Given the description of an element on the screen output the (x, y) to click on. 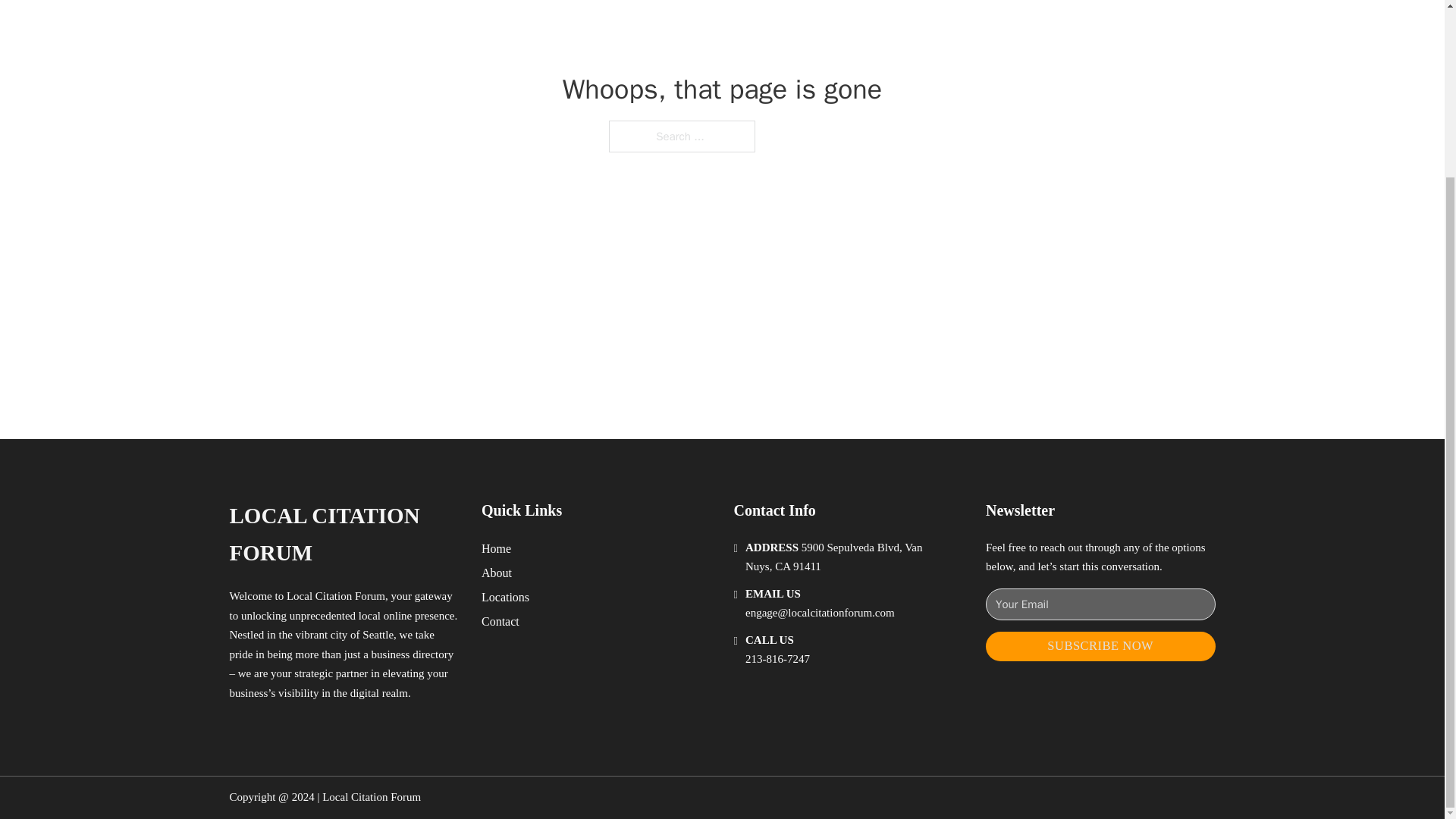
Home (496, 548)
LOCAL CITATION FORUM (343, 534)
About (496, 572)
Contact (500, 620)
SUBSCRIBE NOW (1100, 645)
213-816-7247 (777, 658)
Locations (505, 597)
